Given the description of an element on the screen output the (x, y) to click on. 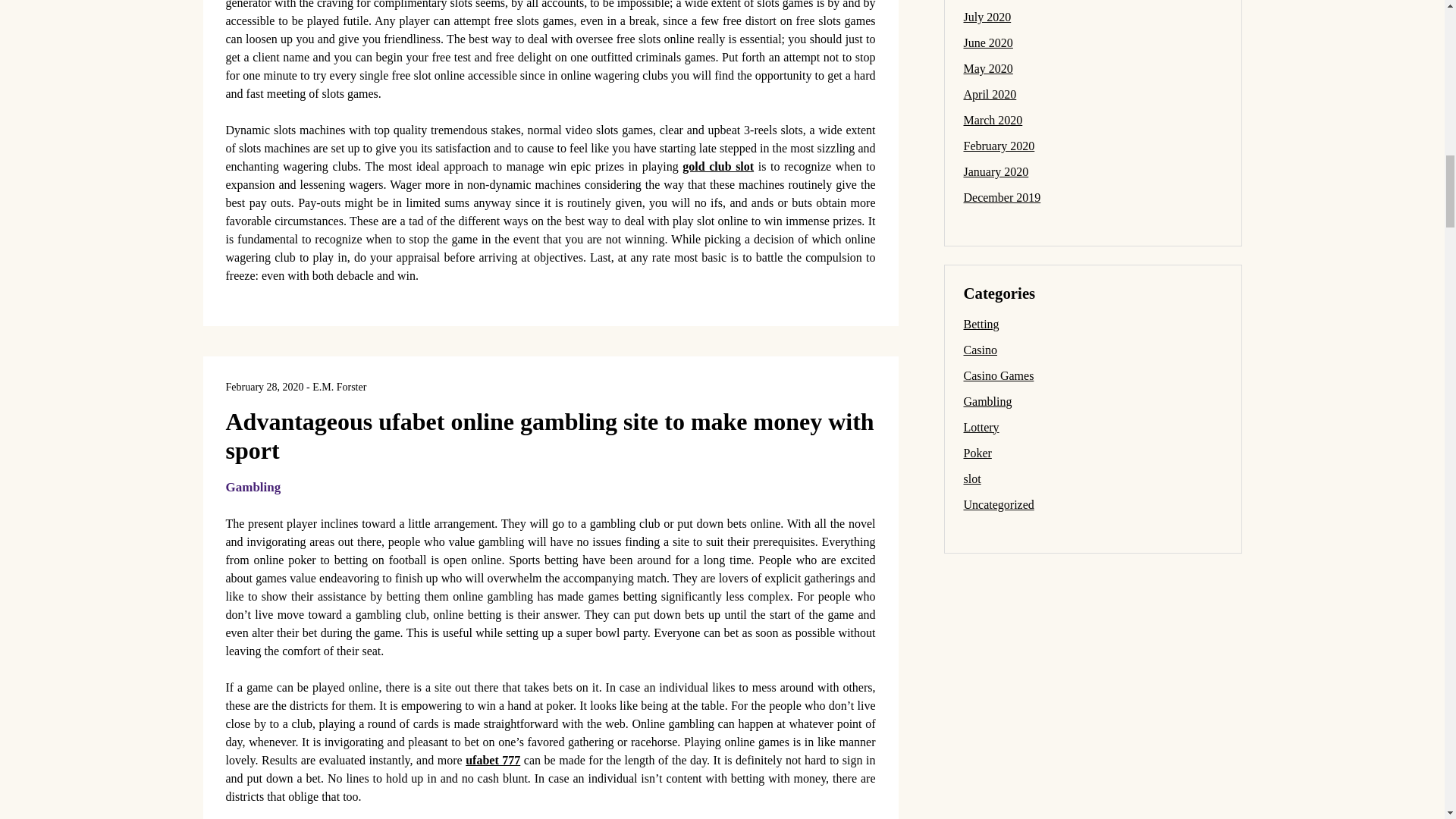
Gambling (253, 486)
E.M. Forster (339, 387)
ufabet 777 (492, 759)
gold club slot (718, 165)
February 28, 2020 (264, 387)
